Given the description of an element on the screen output the (x, y) to click on. 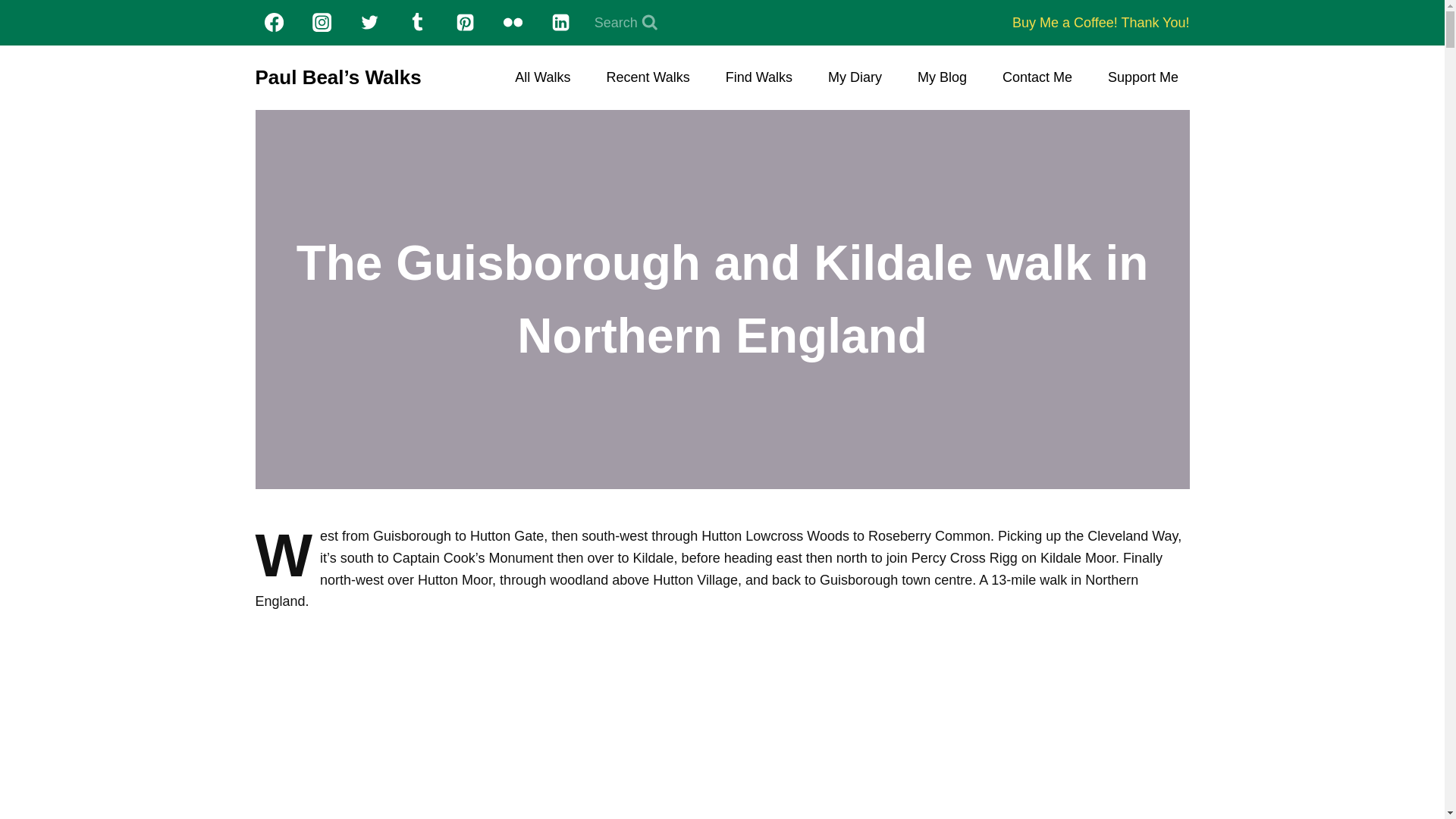
Search (626, 22)
Buy Me a Coffee! Thank You! (1100, 22)
Support Me (1143, 77)
My Blog (942, 77)
My Diary (854, 77)
Recent Walks (647, 77)
All Walks (541, 77)
Contact Me (1037, 77)
Find Walks (758, 77)
